Given the description of an element on the screen output the (x, y) to click on. 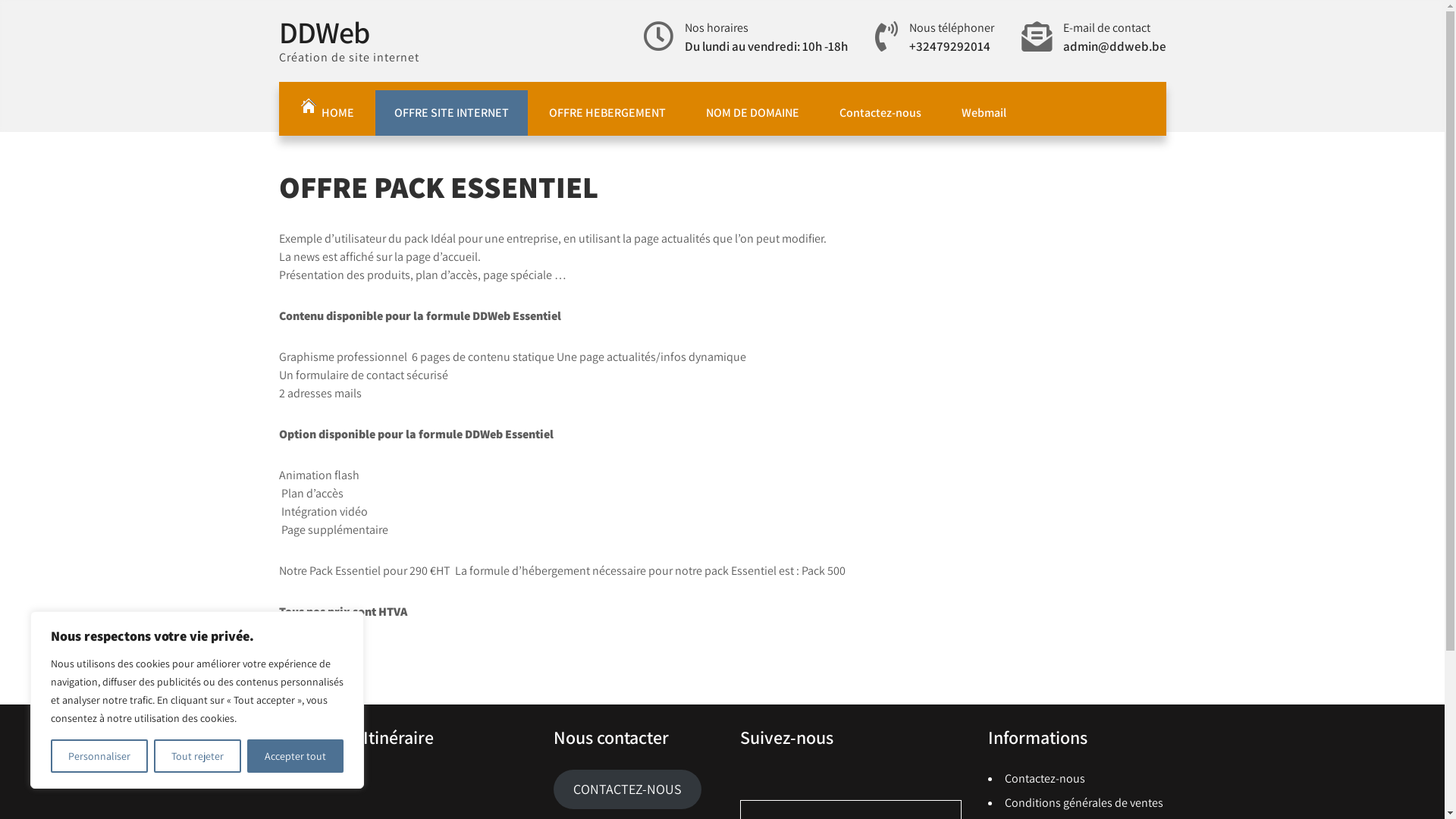
Contactez-nous Element type: text (1044, 778)
HOME Element type: text (326, 108)
Webmail Element type: text (982, 112)
Personnaliser Element type: text (98, 755)
Contactez-nous Element type: text (880, 112)
OFFRE SITE INTERNET Element type: text (450, 112)
admin@ddweb.be Element type: text (1114, 45)
DDWeb Element type: text (324, 31)
Accepter tout Element type: text (295, 755)
NOM DE DOMAINE Element type: text (752, 112)
Tout rejeter Element type: text (197, 755)
OFFRE HEBERGEMENT Element type: text (606, 112)
CONTACTEZ-NOUS Element type: text (627, 789)
